Given the description of an element on the screen output the (x, y) to click on. 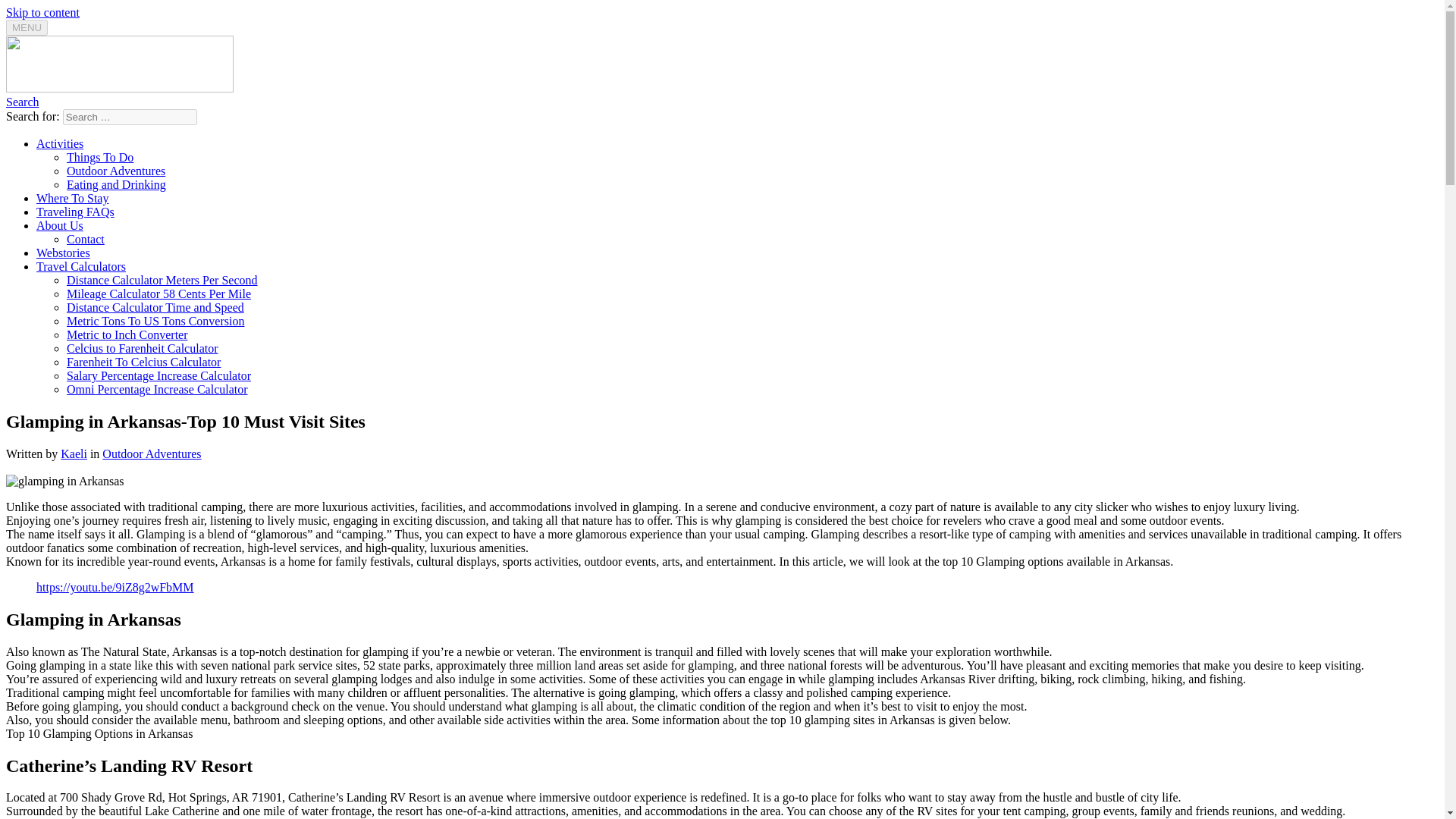
Eating and Drinking (115, 184)
Where To Stay (71, 197)
Outdoor Adventures (115, 170)
Contact (85, 238)
Travel Calculators (80, 266)
Celcius to Farenheit Calculator (142, 348)
Mileage Calculator 58 Cents Per Mile (158, 293)
Salary Percentage Increase Calculator (158, 375)
Distance Calculator Meters Per Second (161, 279)
Farenheit To Celcius Calculator (143, 361)
